Given the description of an element on the screen output the (x, y) to click on. 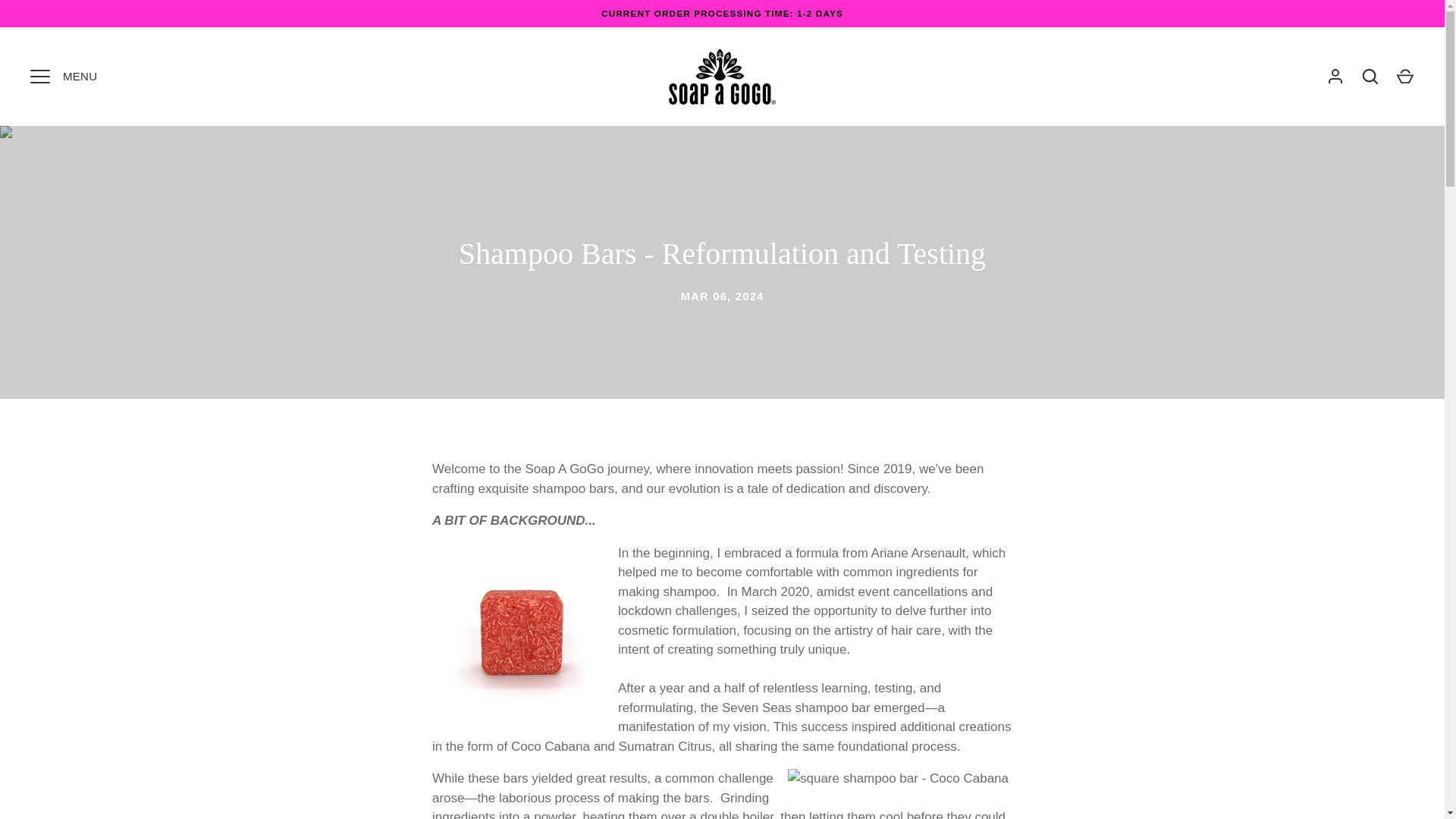
Coco Cabana shampoo bar (550, 746)
Ariane Arsenault Patreon Page (918, 553)
MENU (39, 76)
